Given the description of an element on the screen output the (x, y) to click on. 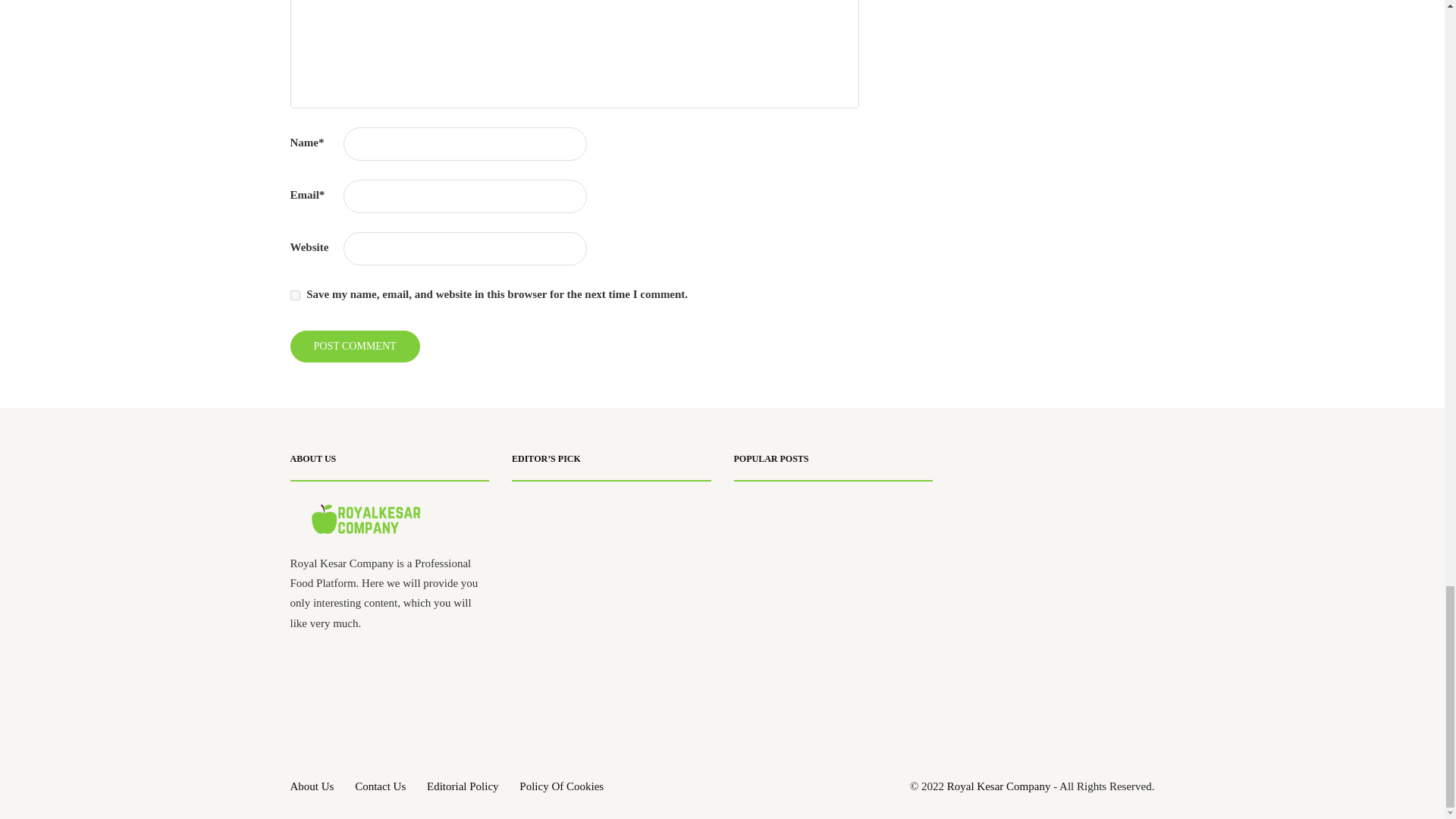
yes (294, 295)
Post comment (354, 346)
